Given the description of an element on the screen output the (x, y) to click on. 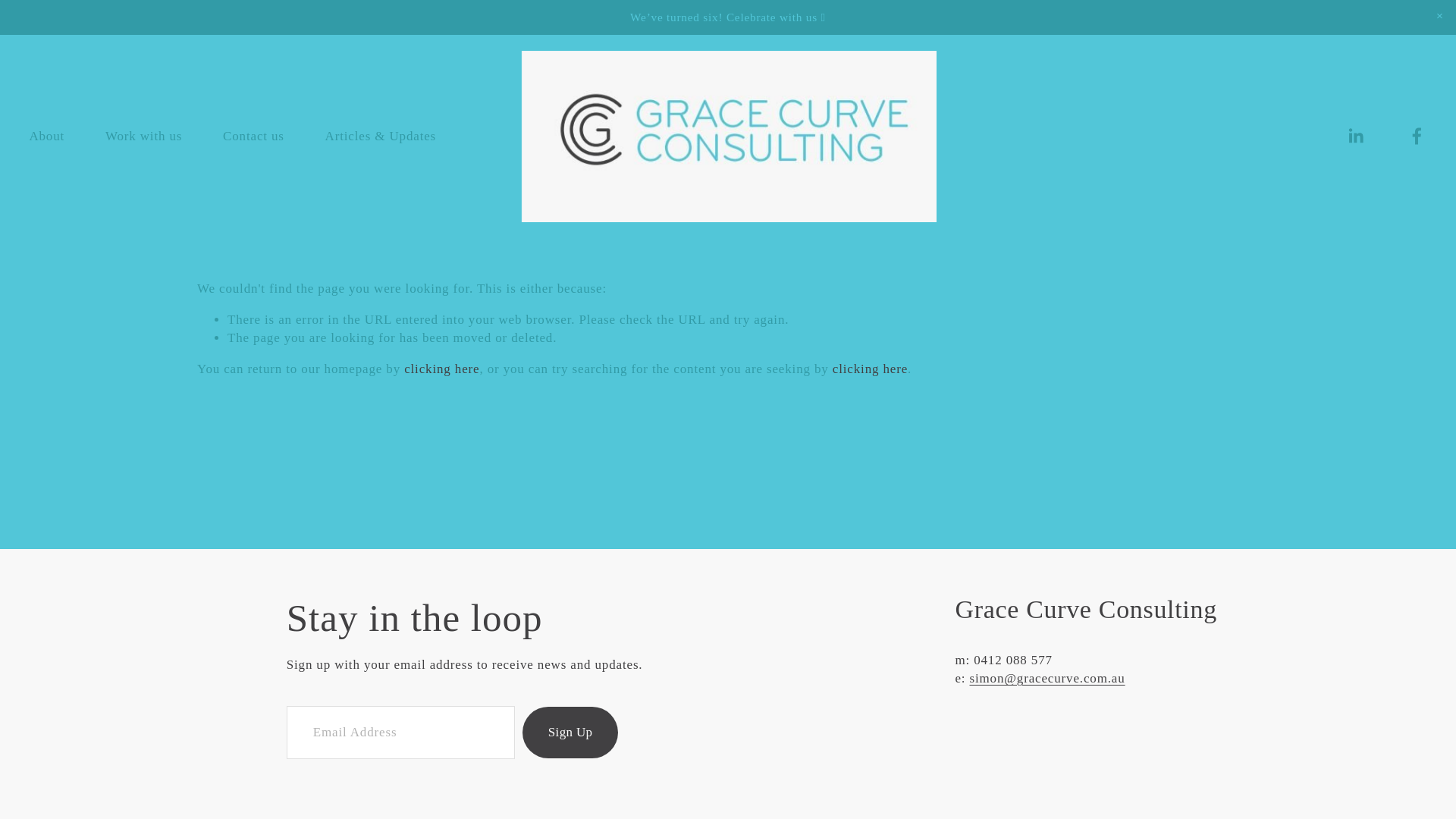
Contact us Element type: text (253, 135)
About Element type: text (46, 135)
simon@gracecurve.com.au Element type: text (1046, 678)
Articles & Updates Element type: text (380, 135)
Work with us Element type: text (143, 135)
clicking here Element type: text (869, 368)
clicking here Element type: text (441, 368)
Sign Up Element type: text (570, 732)
